Given the description of an element on the screen output the (x, y) to click on. 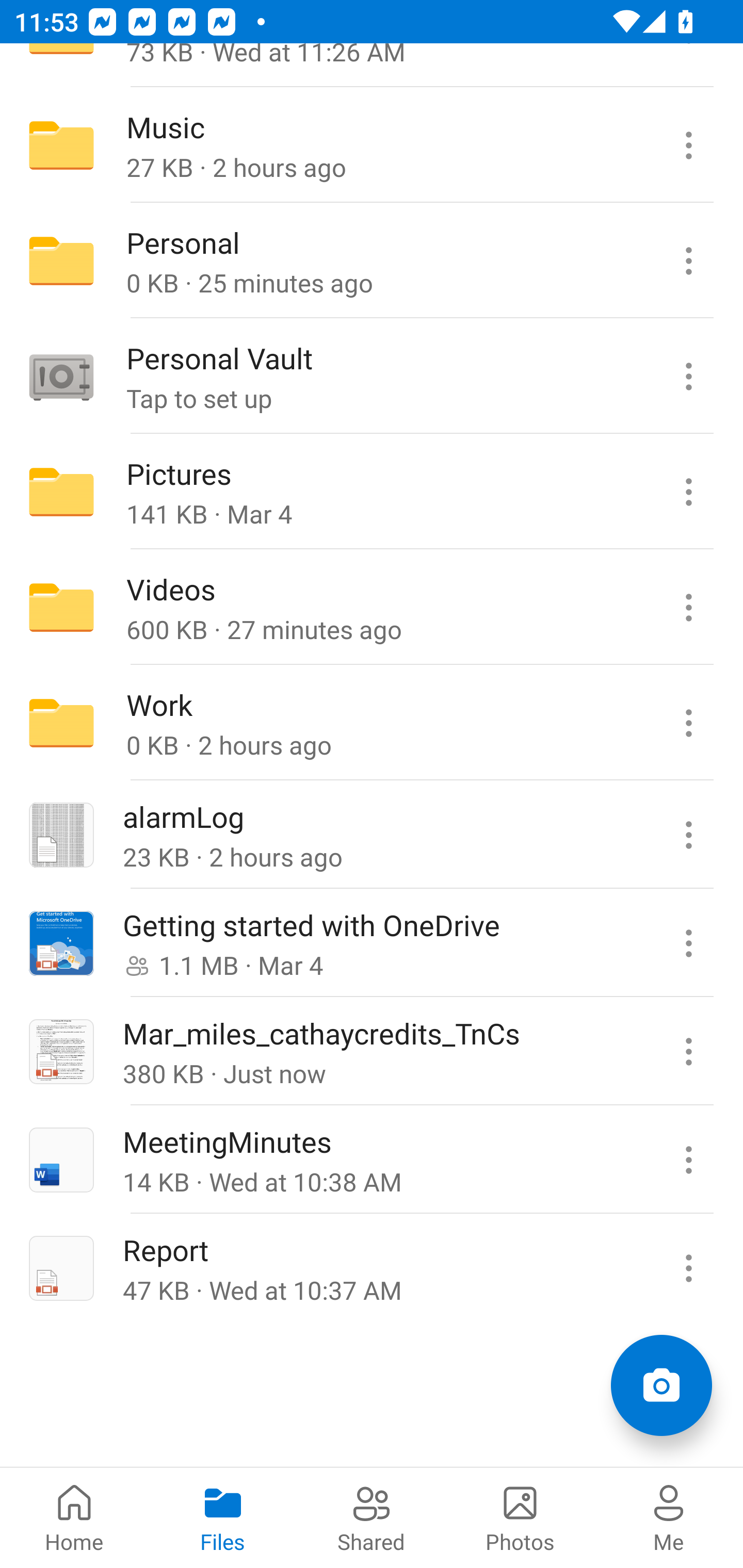
Folder Music 27 KB · 2 hours ago Music commands (371, 145)
Music commands (688, 145)
Personal commands (688, 260)
Personal Vault commands (688, 376)
Folder Pictures 141 KB · Mar 4 Pictures commands (371, 492)
Pictures commands (688, 492)
Videos commands (688, 607)
Folder Work 0 KB · 2 hours ago Work commands (371, 722)
Work commands (688, 722)
alarmLog commands (688, 834)
Getting started with OneDrive commands (688, 943)
Mar_miles_cathaycredits_TnCs commands (688, 1051)
MeetingMinutes commands (688, 1159)
Report commands (688, 1267)
Add items Scan (660, 1385)
Home pivot Home (74, 1517)
Shared pivot Shared (371, 1517)
Photos pivot Photos (519, 1517)
Me pivot Me (668, 1517)
